Given the description of an element on the screen output the (x, y) to click on. 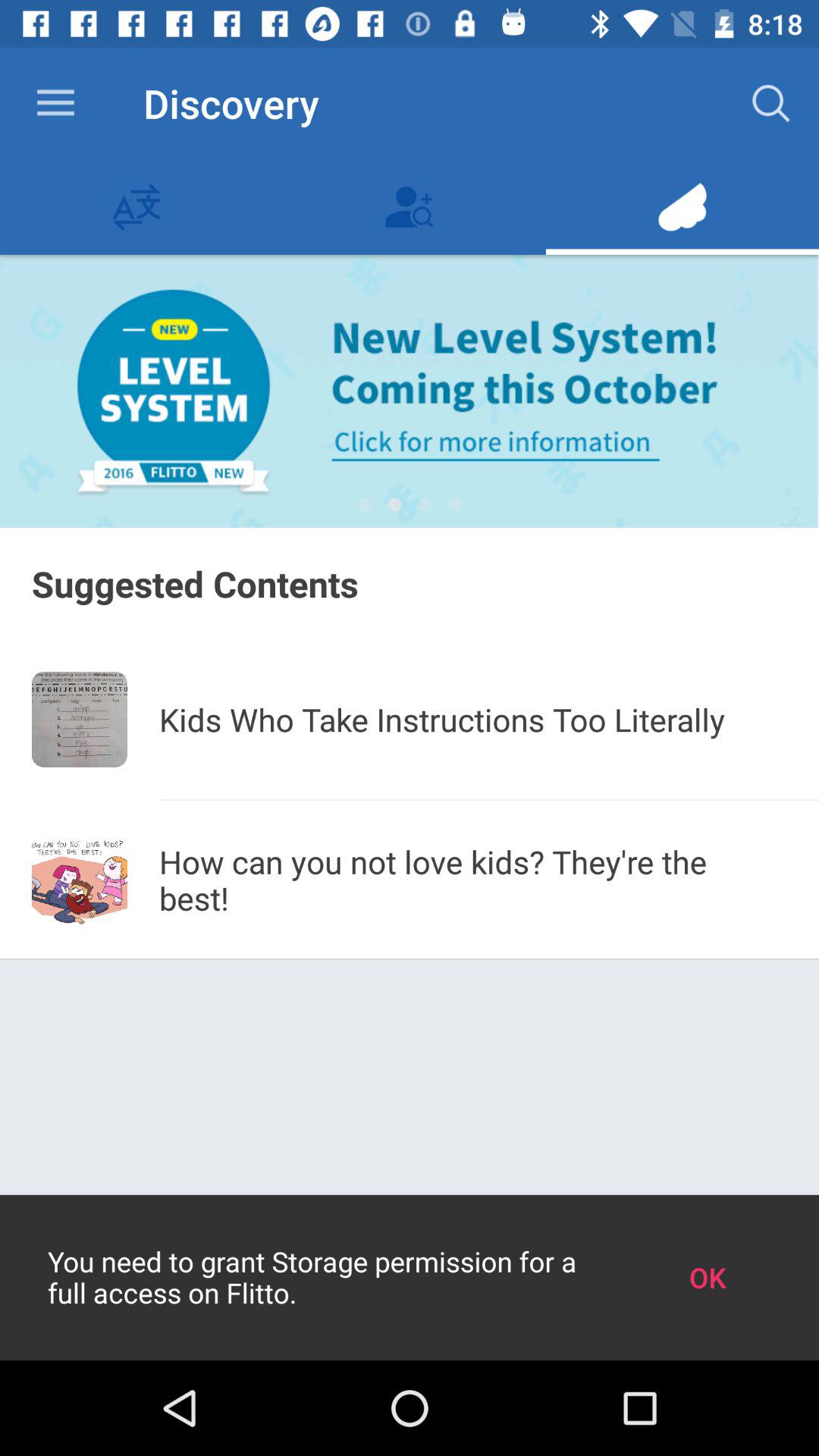
select the item above the you need to (473, 880)
